Given the description of an element on the screen output the (x, y) to click on. 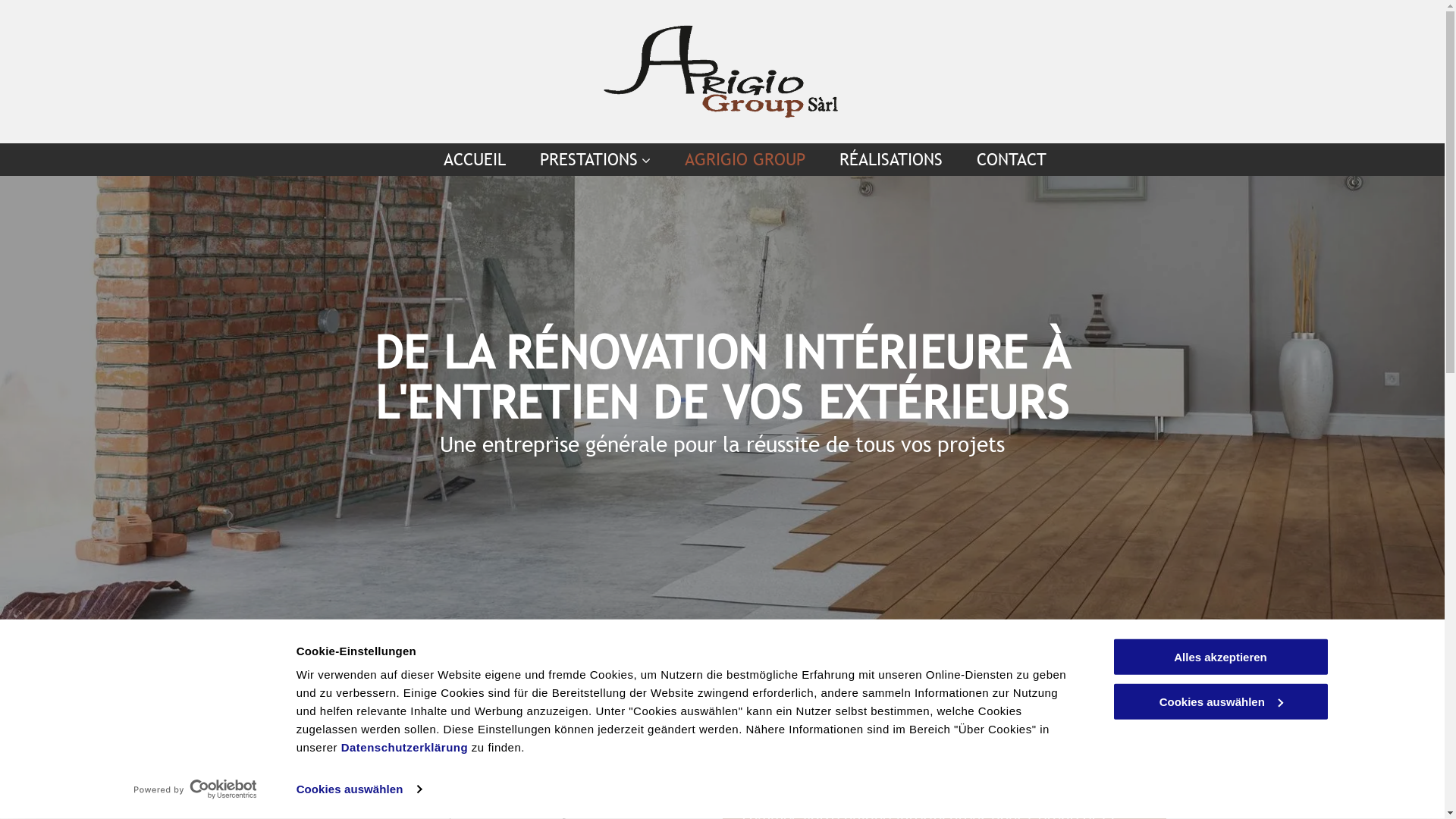
AGRIGIO GROUP Element type: text (739, 159)
Alles akzeptieren Element type: text (1219, 656)
ACCUEIL Element type: text (468, 159)
PRESTATIONS Element type: text (589, 159)
CONTACT Element type: text (1005, 159)
